Given the description of an element on the screen output the (x, y) to click on. 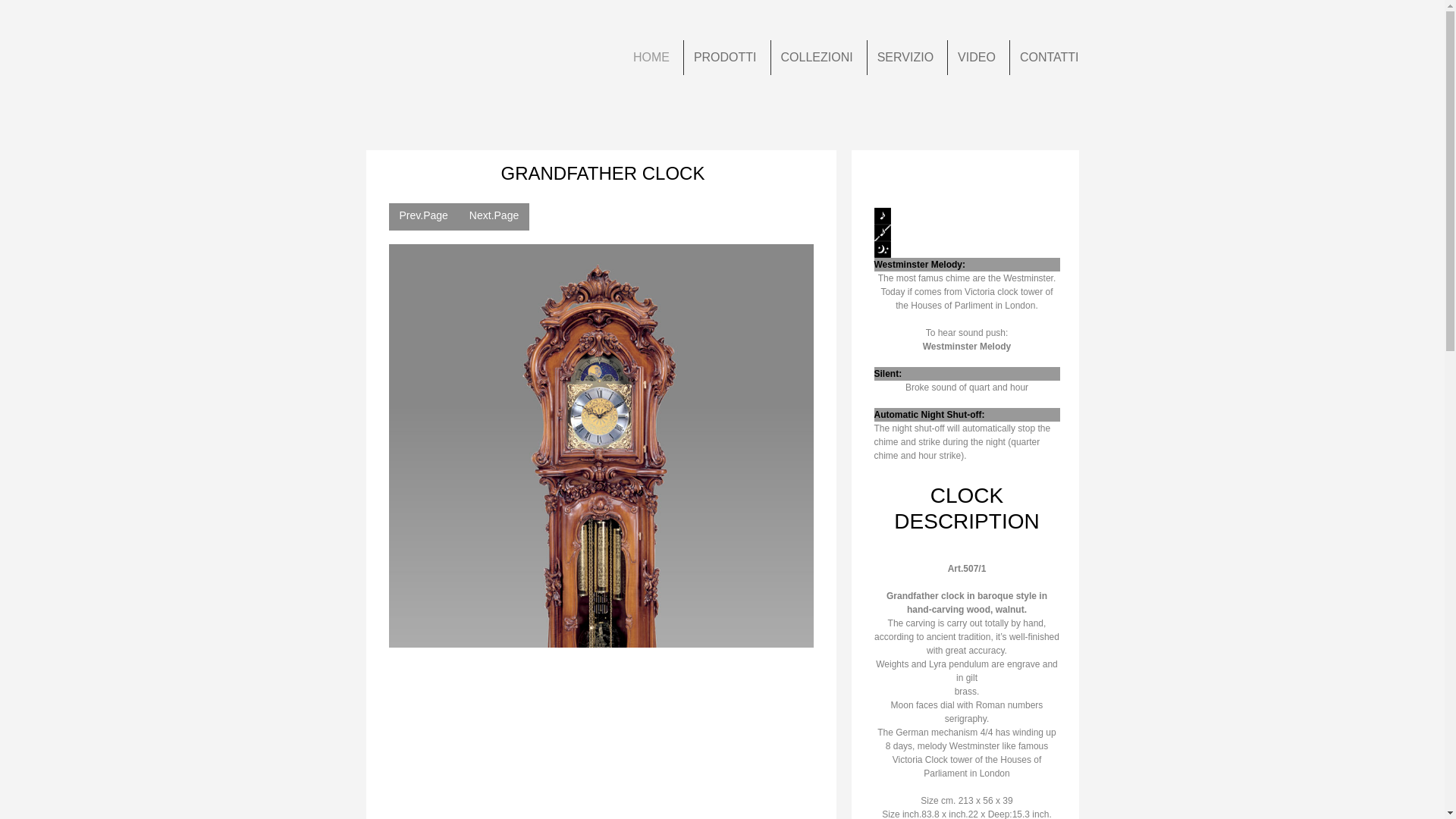
PRODOTTI (725, 57)
VIDEO (976, 57)
SERVIZIO (905, 57)
Prev.Page (423, 216)
HOME (651, 57)
Next.Page (493, 216)
CONTATTI (1049, 57)
COLLEZIONI (816, 57)
F.lli Consonni LogoLogo (442, 66)
